Given the description of an element on the screen output the (x, y) to click on. 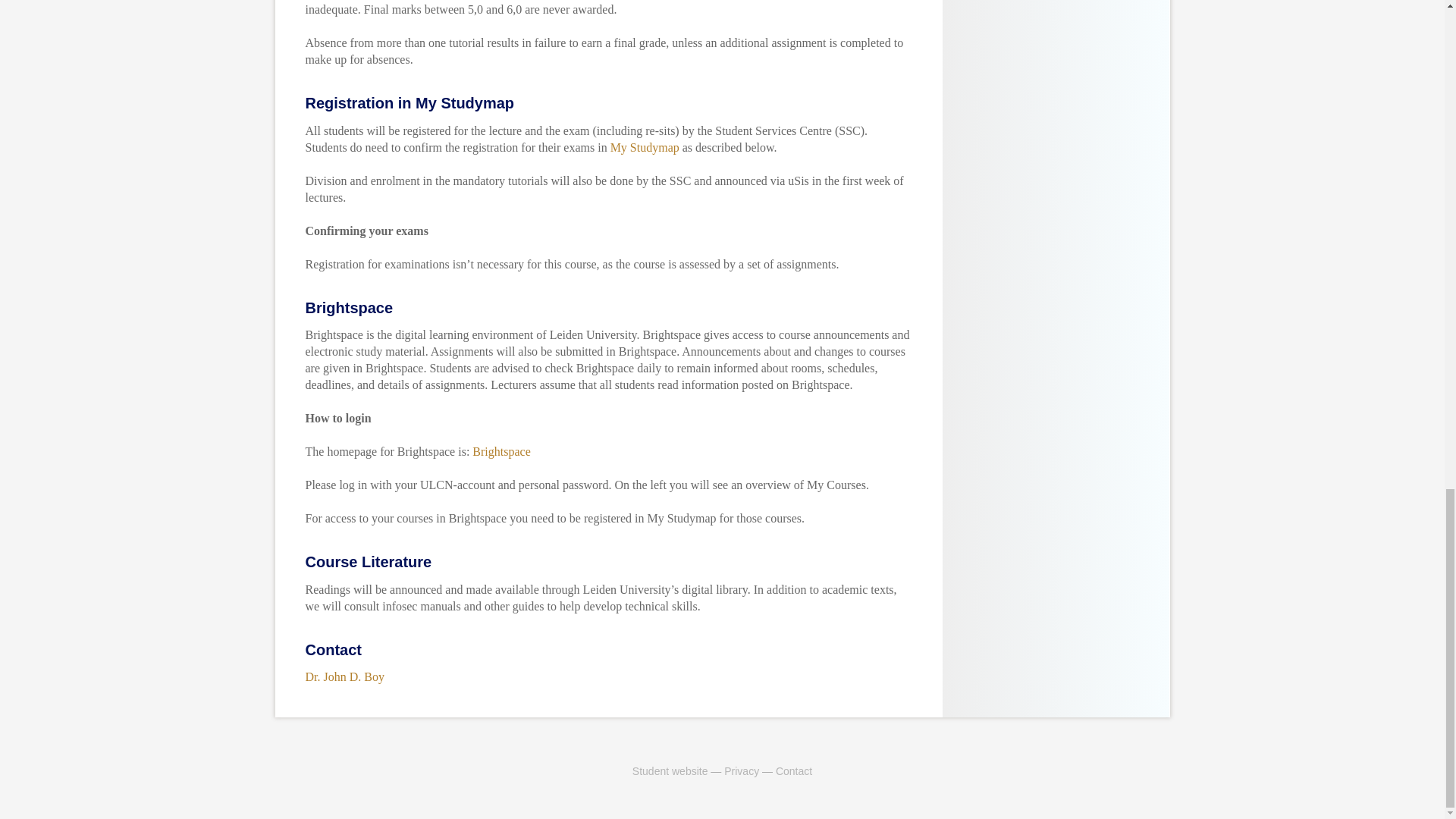
Student website (669, 770)
Contact (794, 770)
Brightspace (500, 451)
Dr. John D. Boy (344, 676)
Privacy (740, 770)
My Studymap (644, 146)
